Given the description of an element on the screen output the (x, y) to click on. 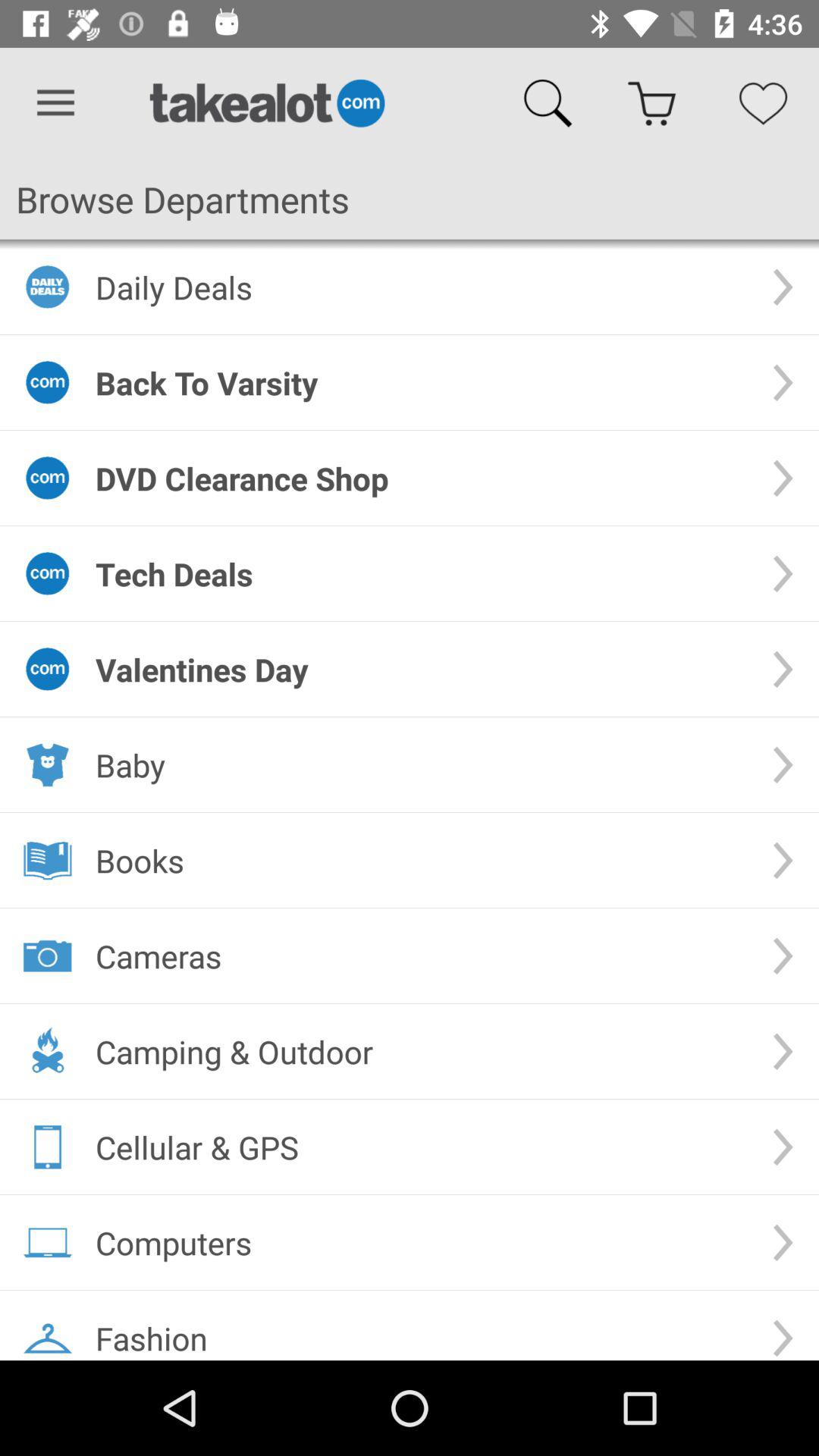
select item below tech deals item (421, 669)
